Given the description of an element on the screen output the (x, y) to click on. 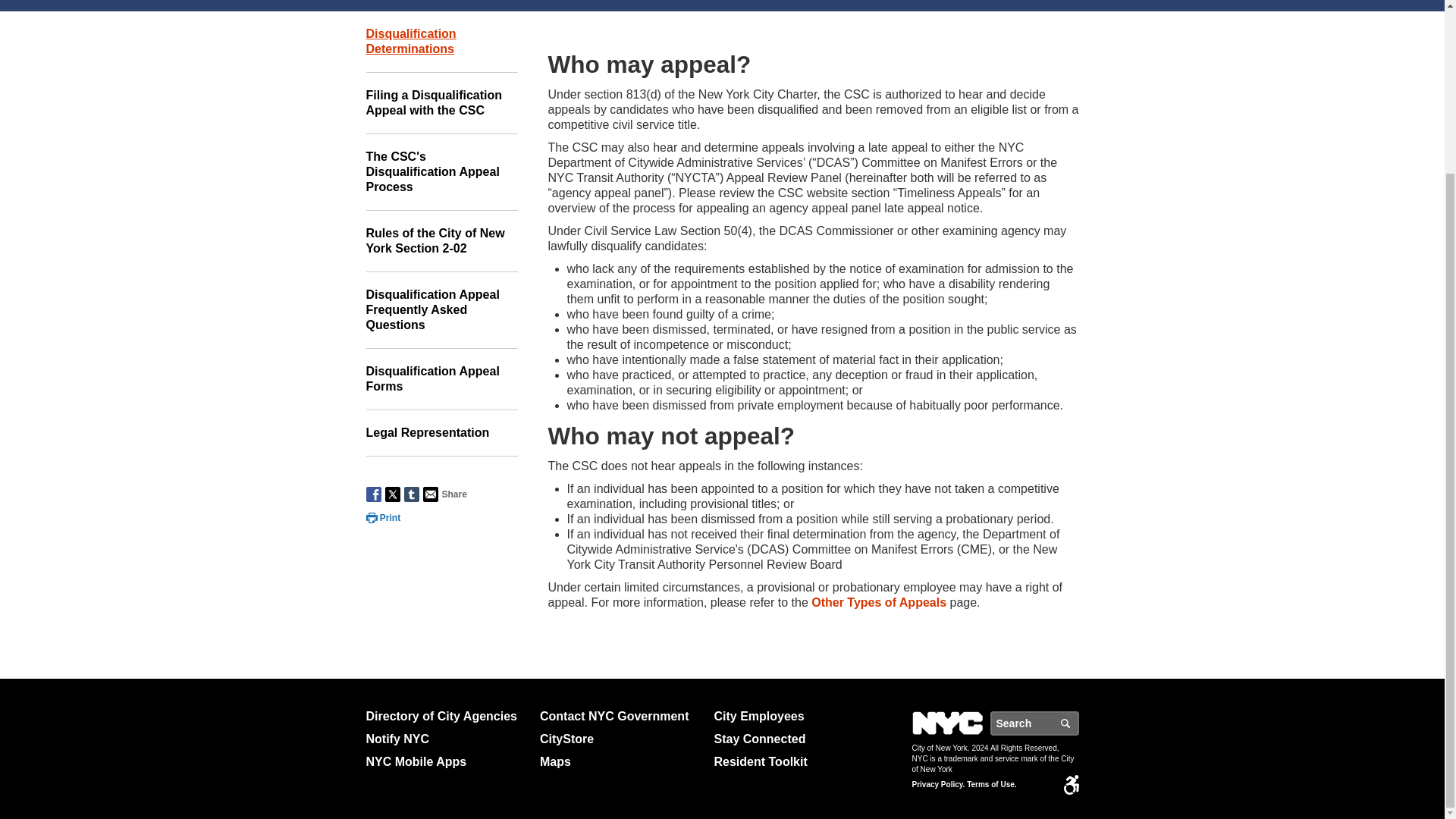
Maps (620, 762)
Disqualification Determinations (440, 41)
City Employees (795, 716)
Other Types of Appeals (878, 602)
Terms of Use (991, 784)
Rules of the City of New York Section 2-02 (440, 240)
The CSC's Disqualification Appeal Process (440, 172)
Disqualification Appeal Frequently Asked Questions (440, 309)
Filing a Disqualification Appeal with the CSC (440, 103)
Notify NYC (446, 739)
CityStore (620, 739)
Resident Toolkit (795, 762)
NYC Mobile Apps (446, 762)
Contact NYC Government (620, 716)
Disqualification Appeal Forms (440, 379)
